Given the description of an element on the screen output the (x, y) to click on. 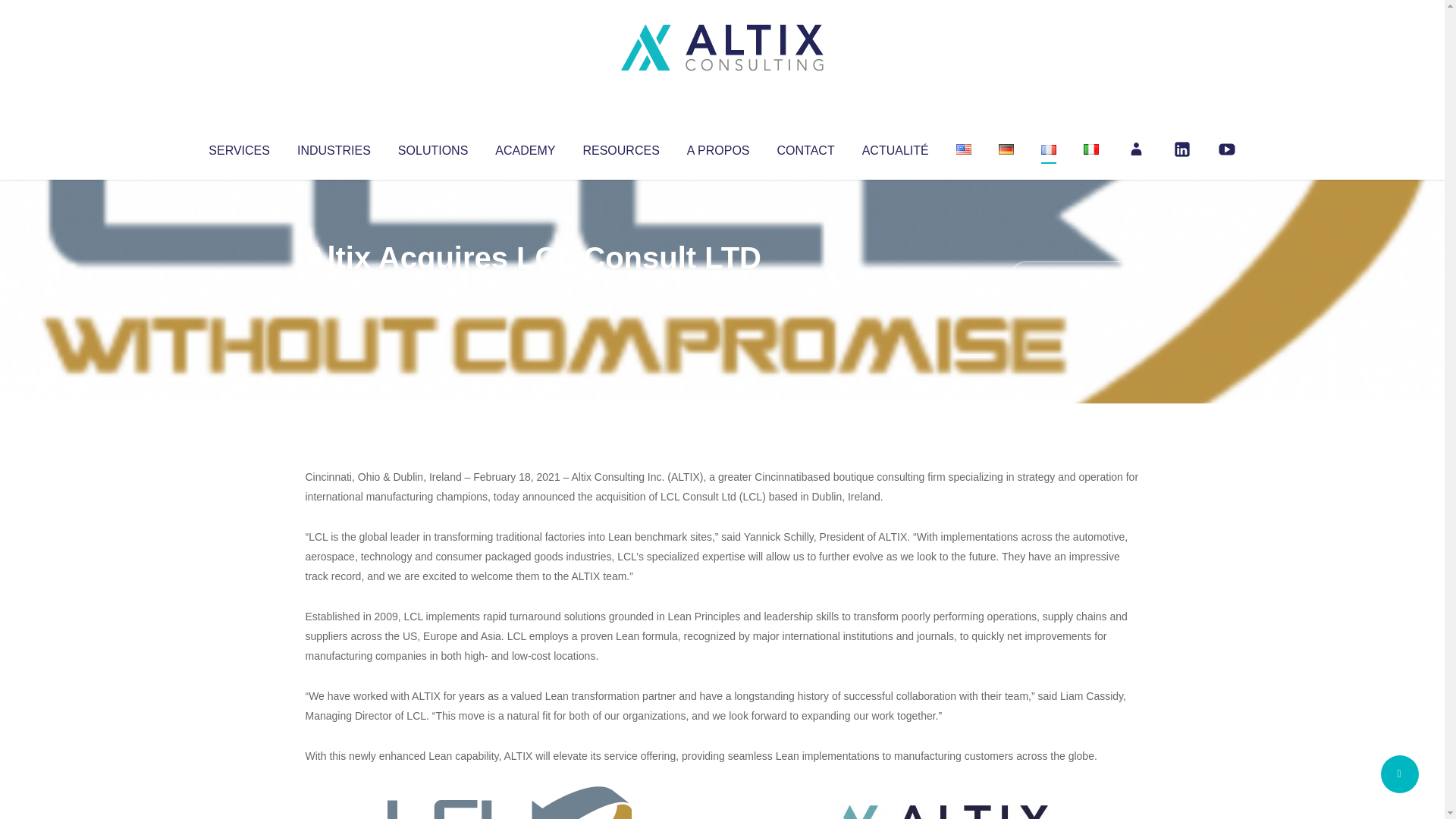
INDUSTRIES (334, 146)
Altix (333, 287)
Uncategorized (530, 287)
RESOURCES (620, 146)
ACADEMY (524, 146)
SERVICES (238, 146)
SOLUTIONS (432, 146)
No Comments (1073, 278)
Articles par Altix (333, 287)
A PROPOS (718, 146)
